Given the description of an element on the screen output the (x, y) to click on. 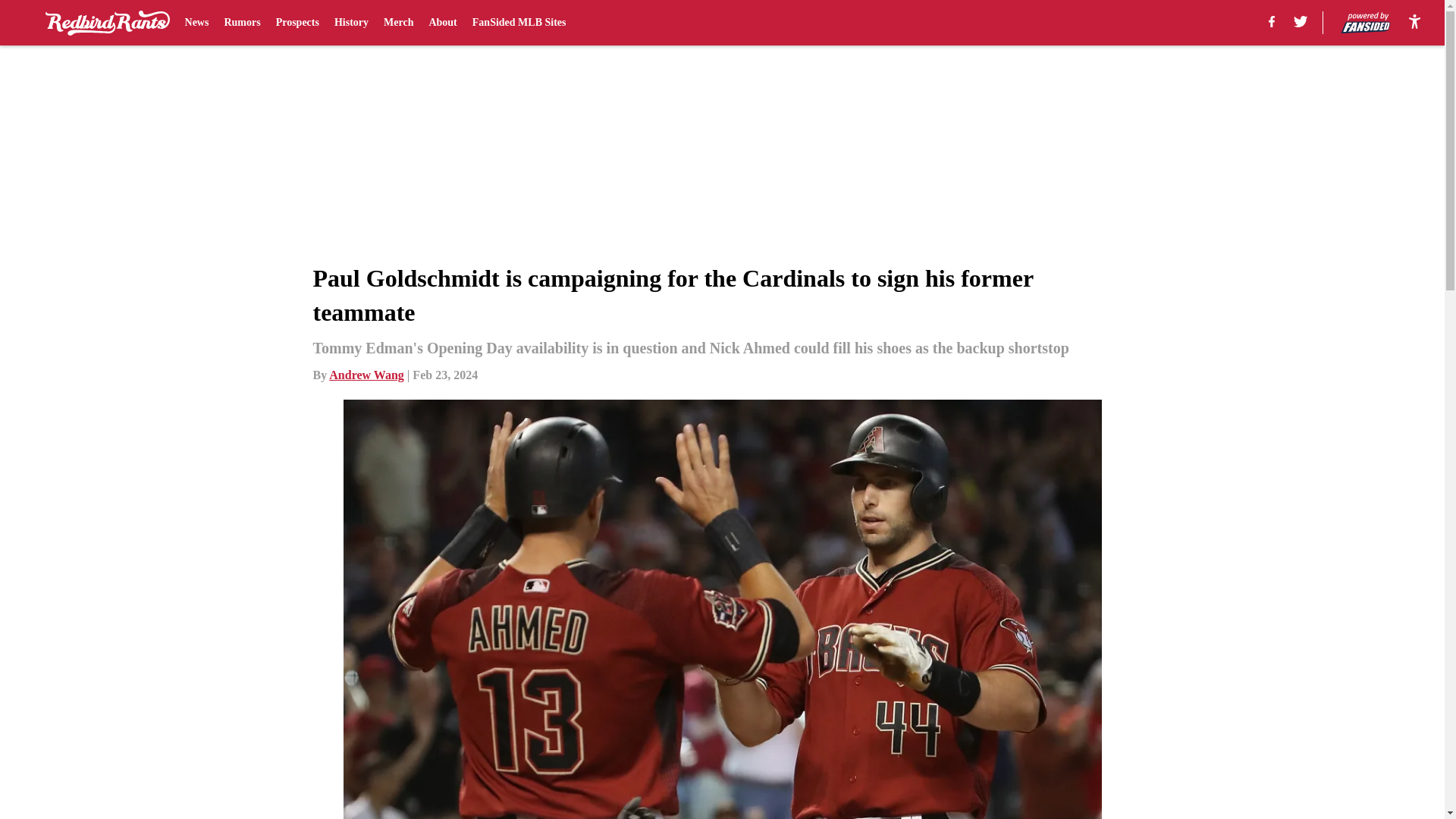
Merch (398, 22)
Prospects (297, 22)
History (351, 22)
About (442, 22)
Andrew Wang (366, 374)
News (196, 22)
FanSided MLB Sites (518, 22)
Rumors (242, 22)
